Given the description of an element on the screen output the (x, y) to click on. 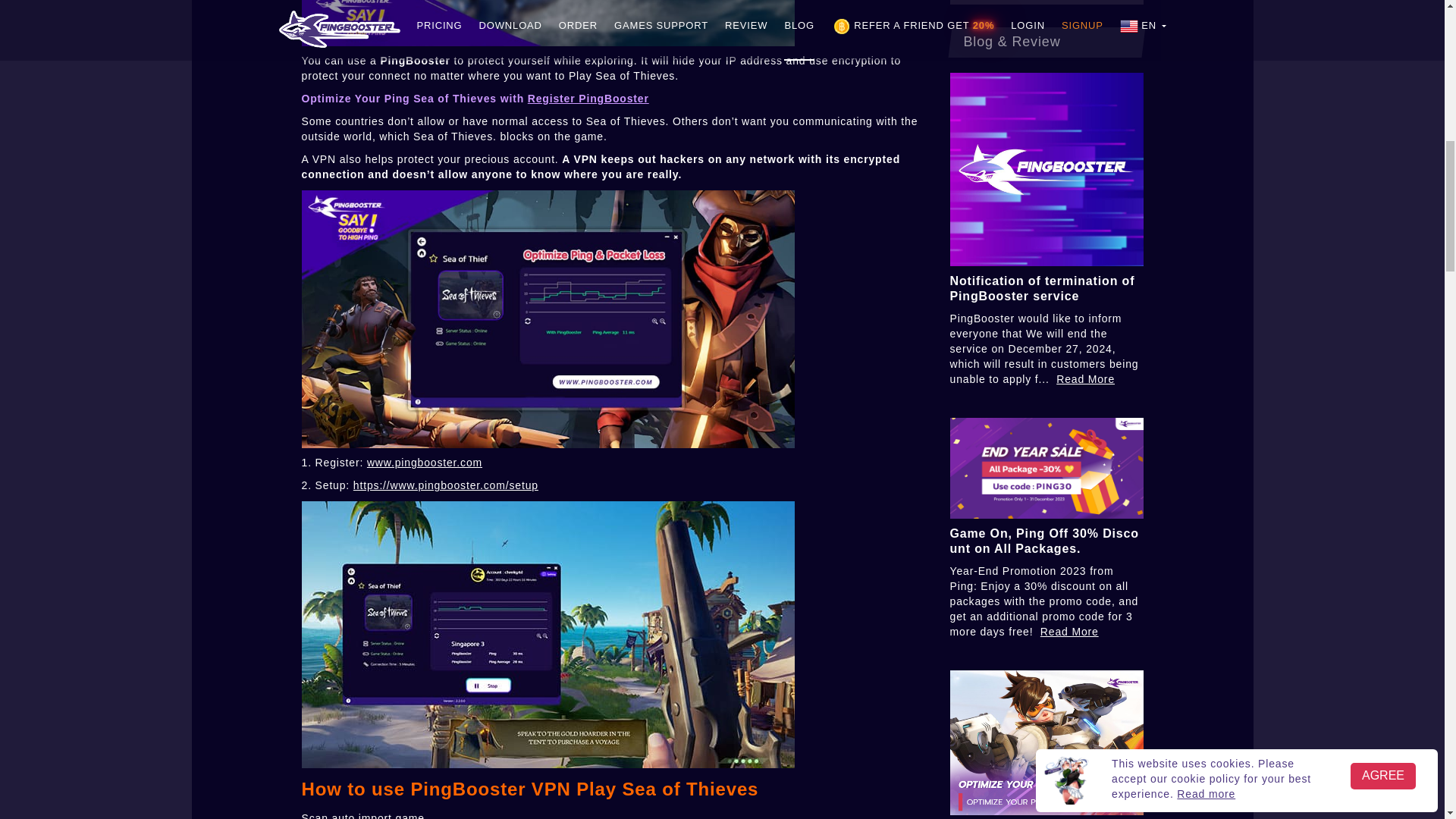
Notification of termination of PingBooster service (1041, 288)
Read More (1086, 378)
Register PingBooster (588, 98)
www.pingbooster.com (423, 462)
Notification of termination of PingBooster service (1041, 288)
Read More (1070, 631)
